Given the description of an element on the screen output the (x, y) to click on. 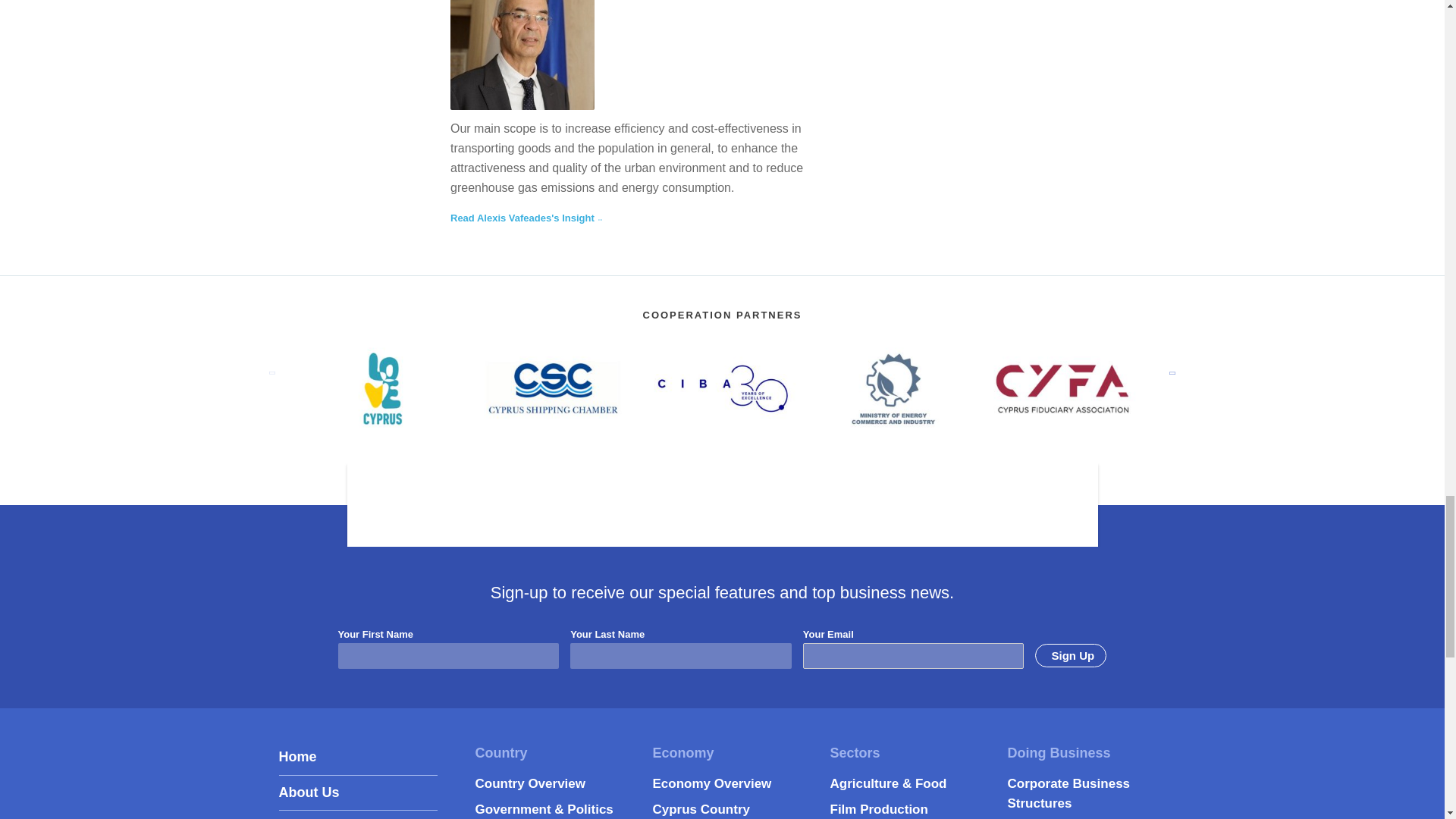
Sign Up (1070, 655)
